Given the description of an element on the screen output the (x, y) to click on. 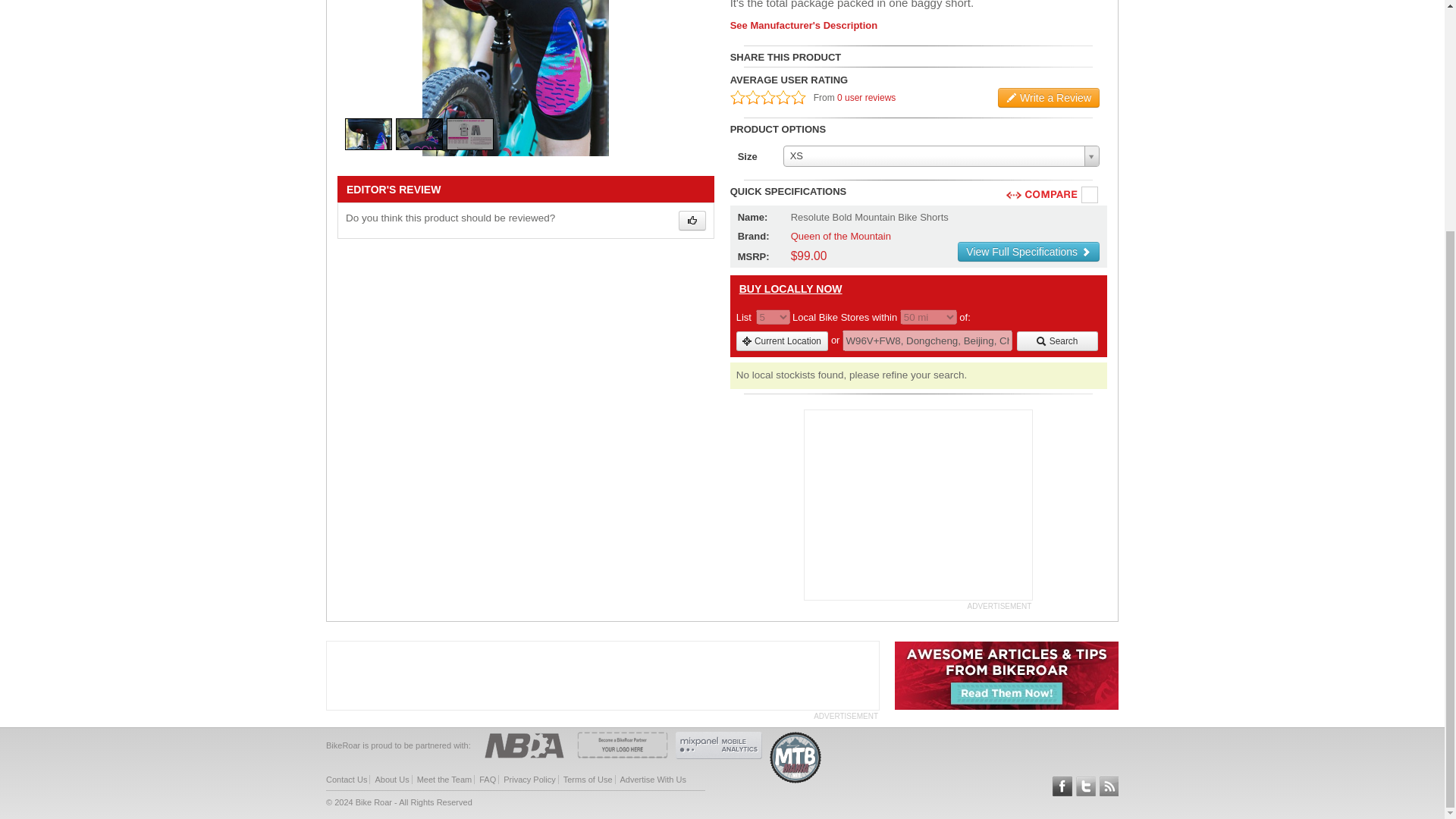
XS (941, 156)
Check out the latest articles and tips (1006, 706)
Meet the Team (443, 778)
FAQ (487, 778)
About Us (391, 778)
Queen of the Mountain (840, 235)
Follow BikeRoar on Facebook (1061, 786)
View all Queen of the Mountain products (840, 235)
See Manufacturer's Description (918, 25)
Meet the Team (443, 778)
Compare (1090, 195)
Write a Review (1048, 97)
Privacy Policy (528, 778)
View Full Specifications (1028, 251)
Contact Us (346, 778)
